Given the description of an element on the screen output the (x, y) to click on. 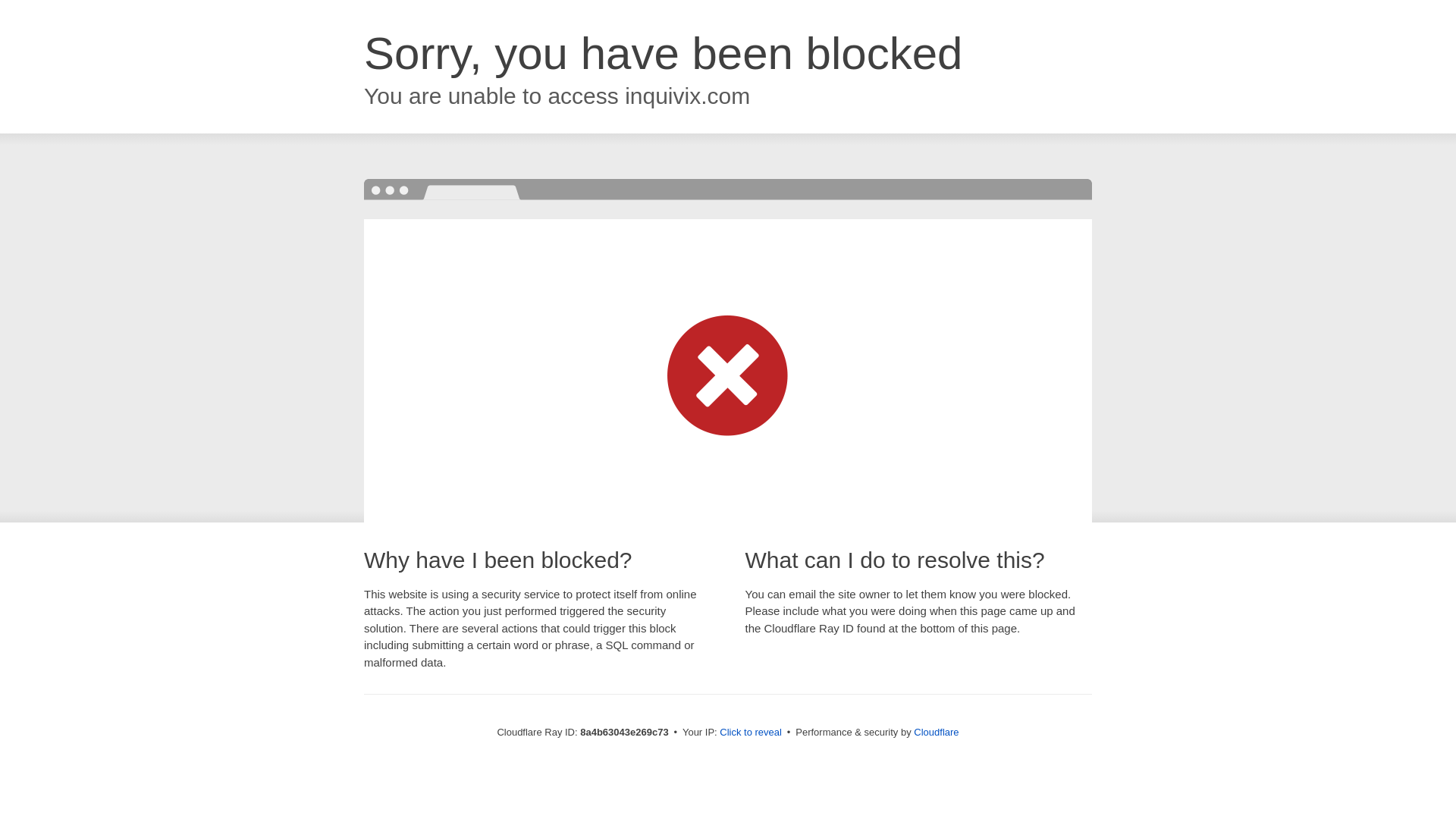
Click to reveal (750, 732)
Cloudflare (936, 731)
